Given the description of an element on the screen output the (x, y) to click on. 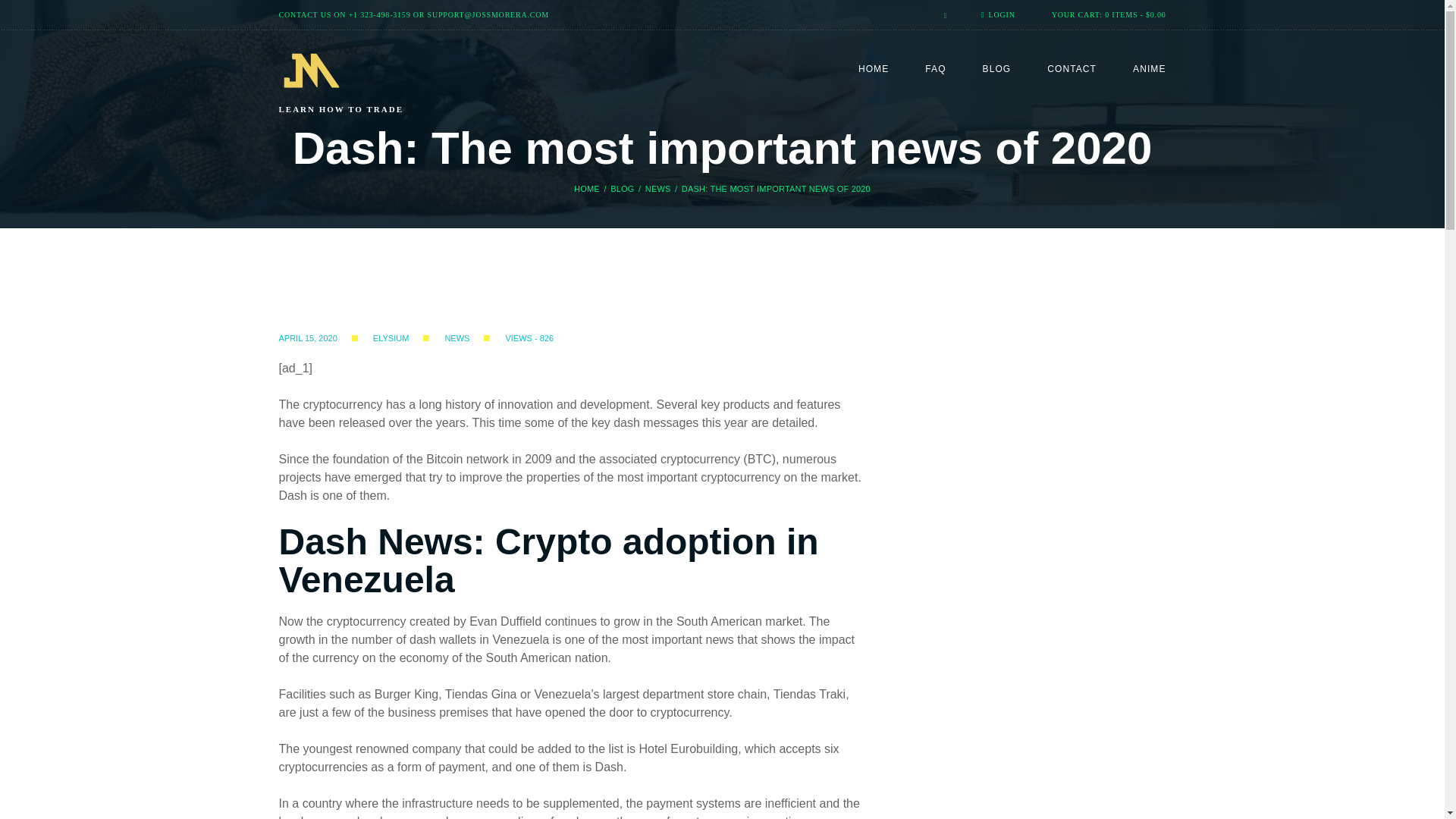
BLOG (621, 189)
NEWS (658, 189)
ANIME (1149, 69)
Open search (940, 15)
LOGIN (997, 14)
Views - 826 (512, 338)
NEWS (456, 338)
LEARN HOW TO TRADE (368, 81)
HOME (873, 69)
FAQ (934, 69)
ELYSIUM (390, 338)
HOME (586, 189)
BLOG (996, 69)
CONTACT (1071, 69)
APRIL 15, 2020 (308, 338)
